Given the description of an element on the screen output the (x, y) to click on. 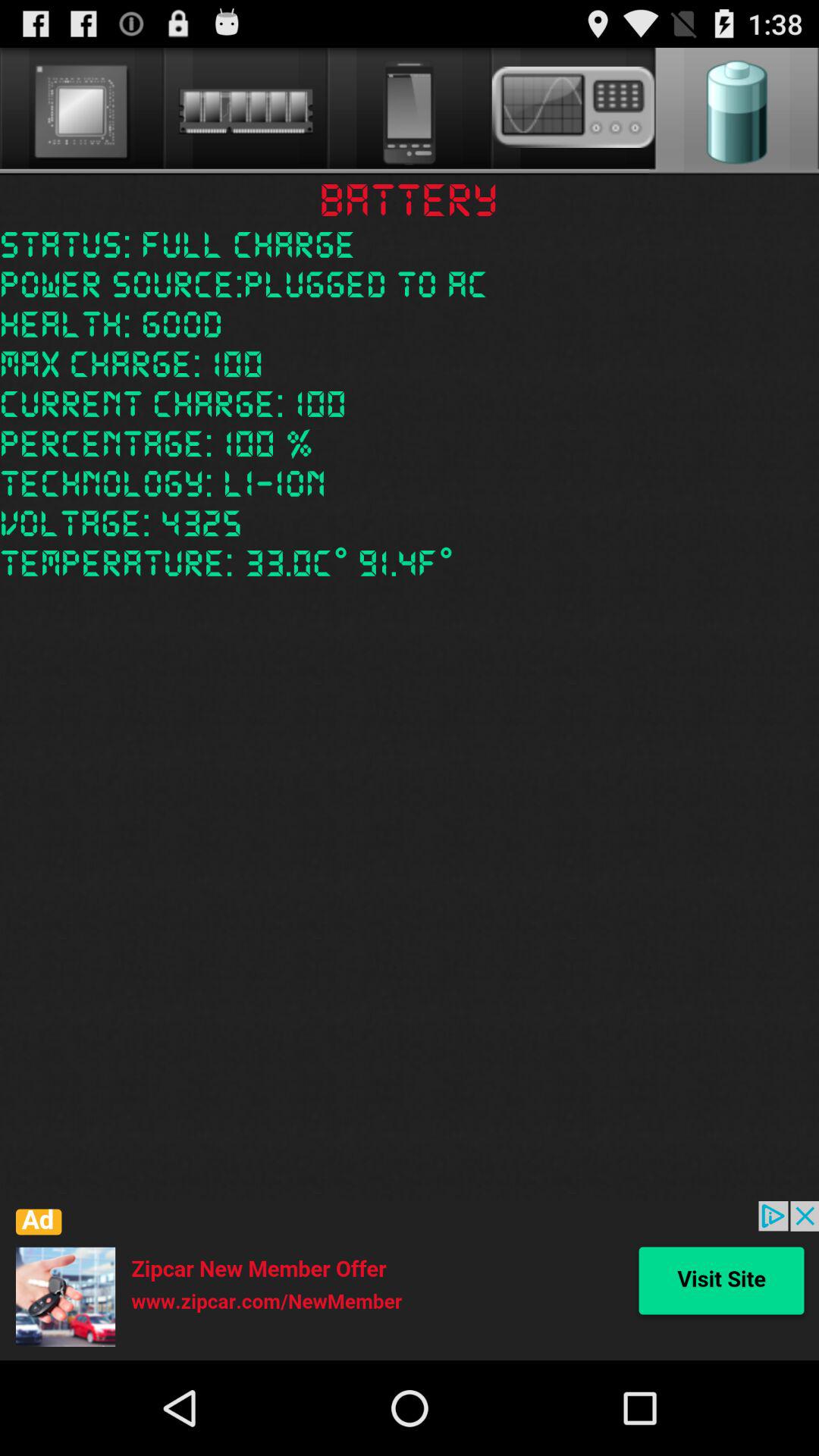
add the option (409, 1280)
